Given the description of an element on the screen output the (x, y) to click on. 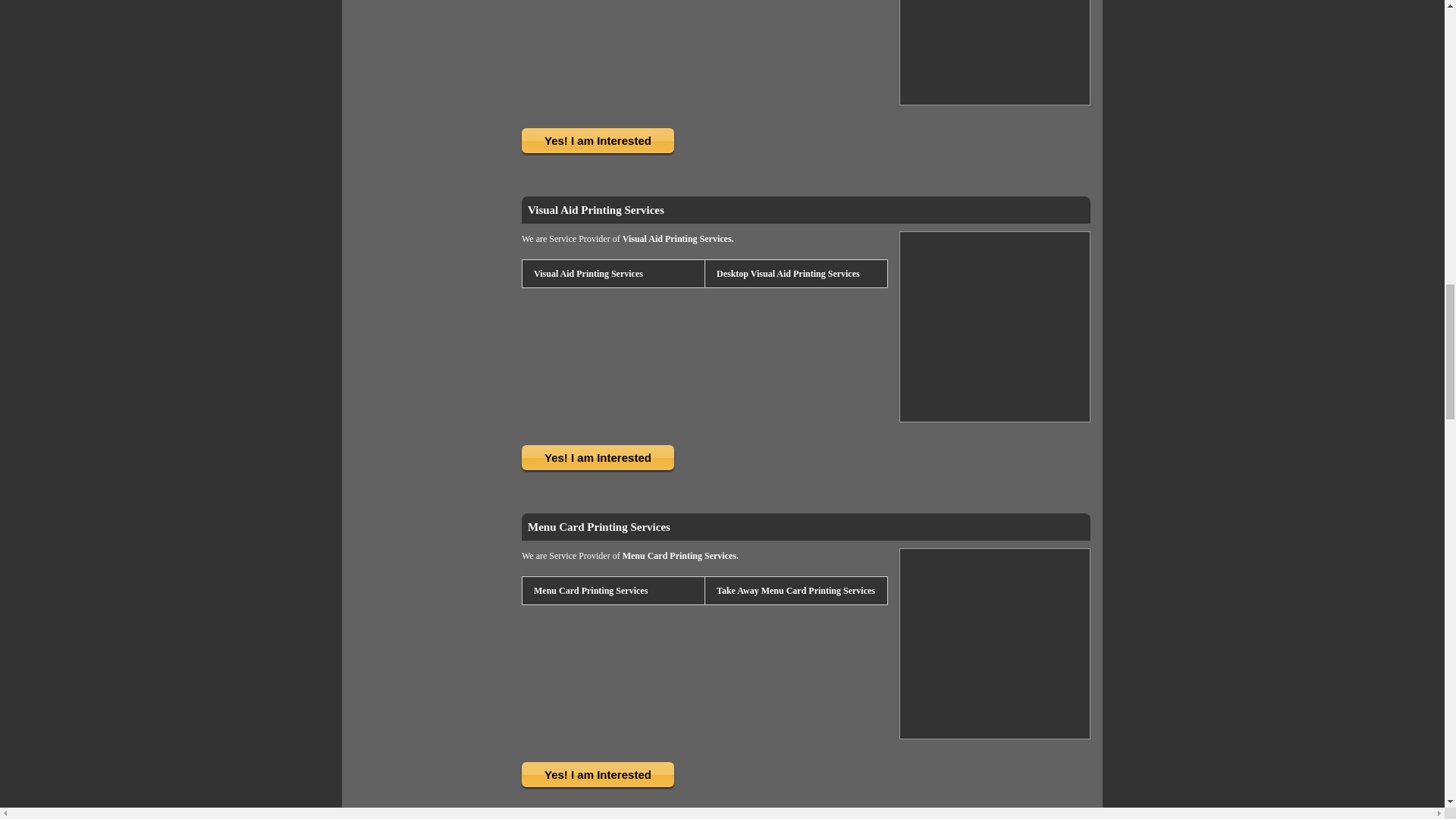
Visual Aid Printing Services (587, 273)
Visual Aid Printing Services (595, 209)
Menu Card Printing Services (589, 590)
Take Away Menu Card Printing Services (795, 590)
Desktop Visual Aid Printing Services (787, 273)
Menu Card Printing Services (598, 526)
